Given the description of an element on the screen output the (x, y) to click on. 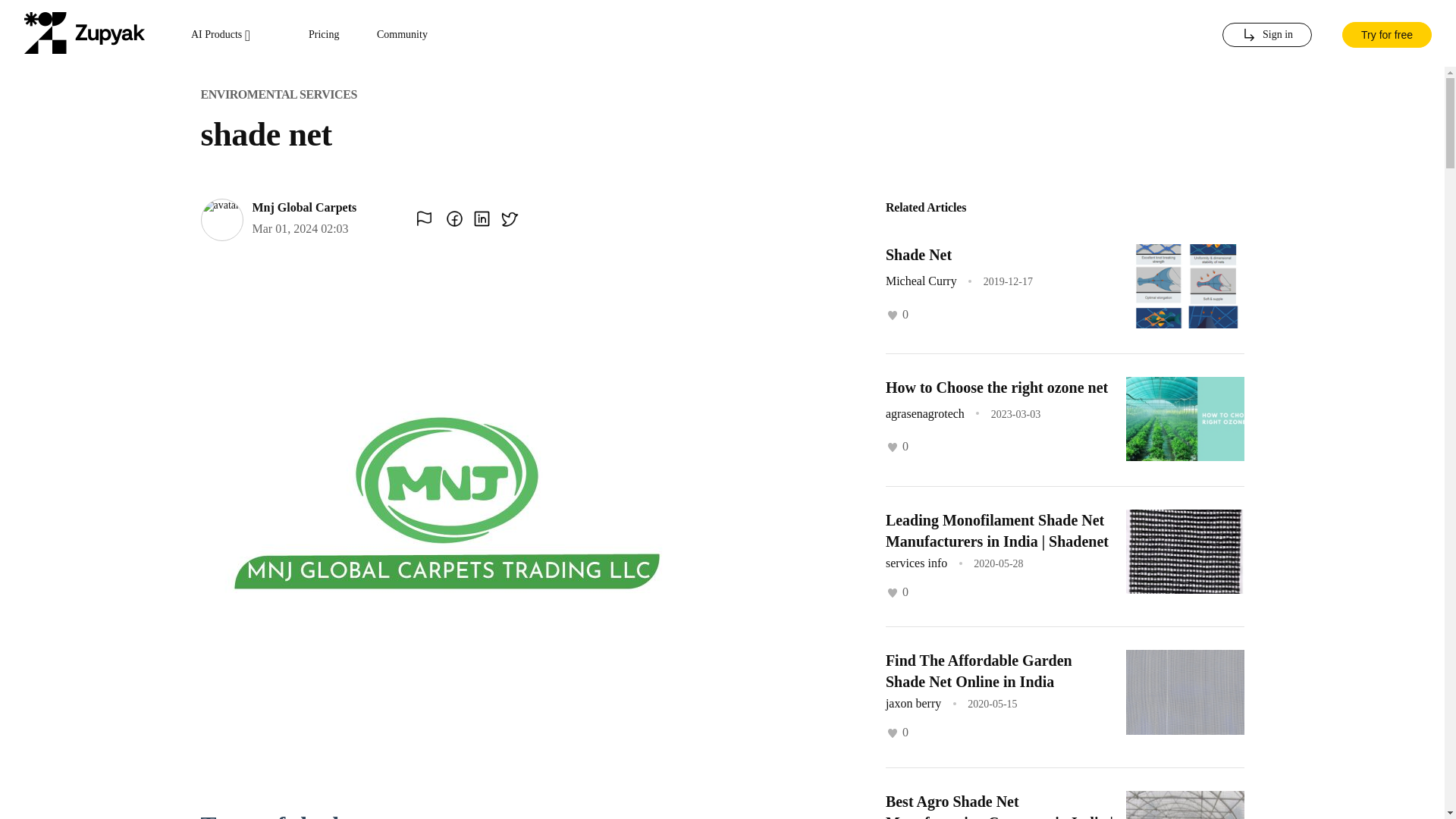
Find The Affordable Garden Shade Net Online in India (978, 670)
 Sign in (1267, 34)
Try for free (1386, 33)
How to Choose the right ozone net (996, 387)
ENVIROMENTAL SERVICES (278, 93)
Pricing (323, 34)
Shade Net (918, 254)
Community (402, 34)
